Given the description of an element on the screen output the (x, y) to click on. 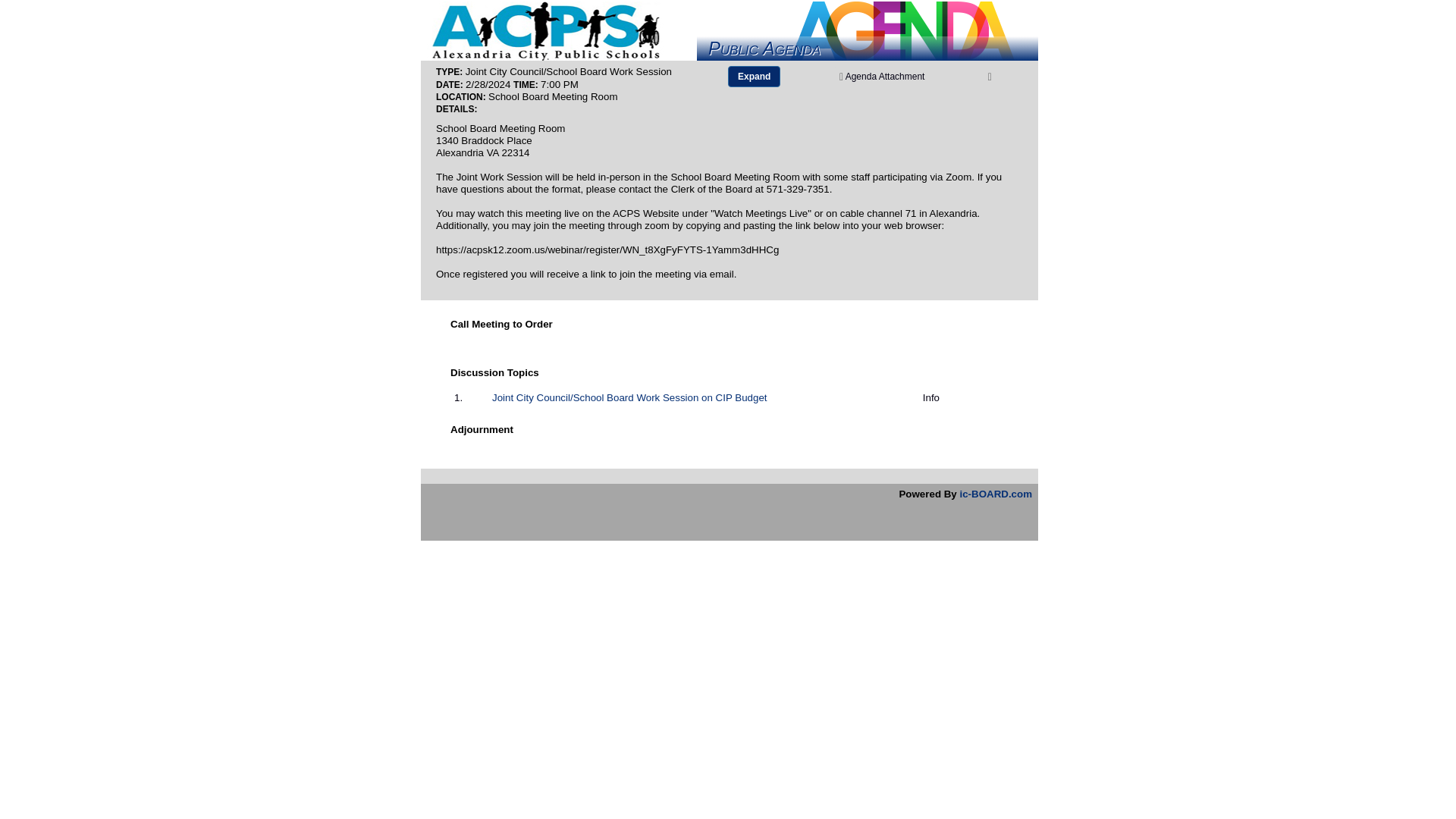
Expand (754, 76)
Agenda Attachment (902, 76)
Click here to Expand (754, 76)
Expand (754, 76)
ic-BOARD.com (995, 493)
